Given the description of an element on the screen output the (x, y) to click on. 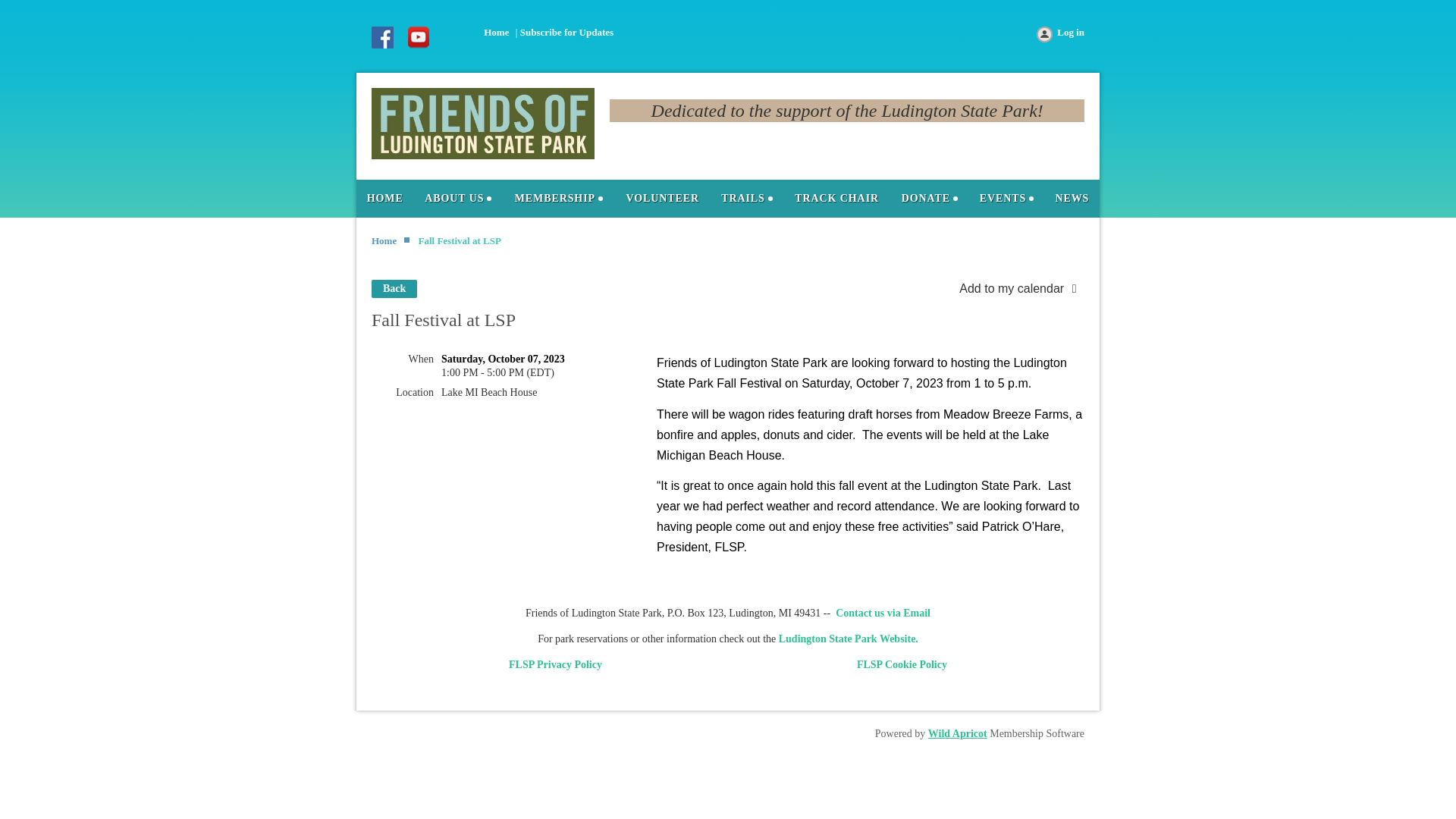
Volunteer (662, 198)
Contact us via Email (882, 613)
Home (384, 198)
YouTube (418, 38)
Facebook (383, 38)
DONATE (928, 198)
VOLUNTEER (662, 198)
Membership (558, 198)
Back (393, 289)
Subscribe for Updates (565, 31)
